Given the description of an element on the screen output the (x, y) to click on. 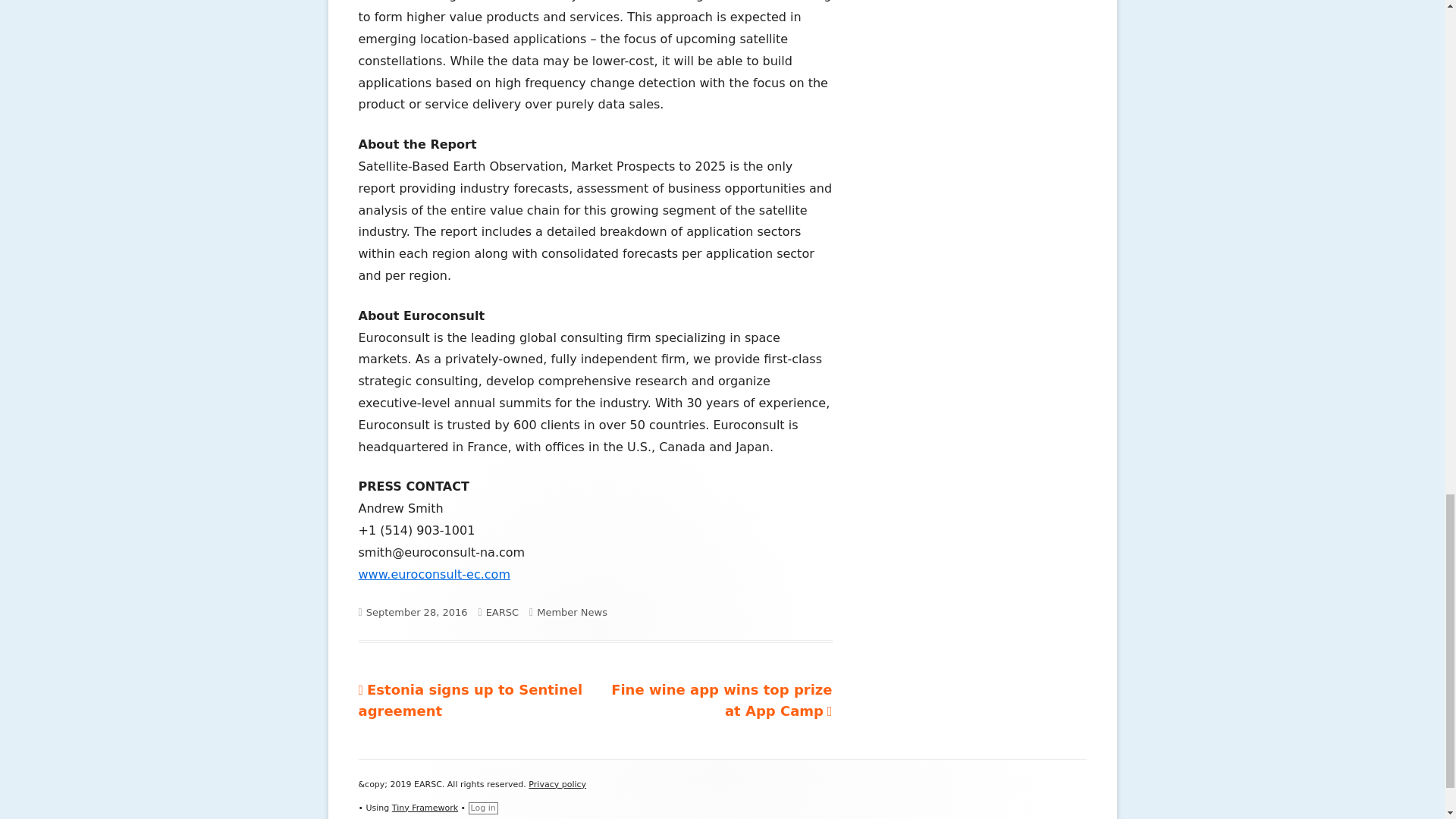
Privacy policy (721, 700)
EARSC (557, 784)
Member News (470, 700)
September 28, 2016 (502, 612)
www.euroconsult-ec.com (572, 612)
